Given the description of an element on the screen output the (x, y) to click on. 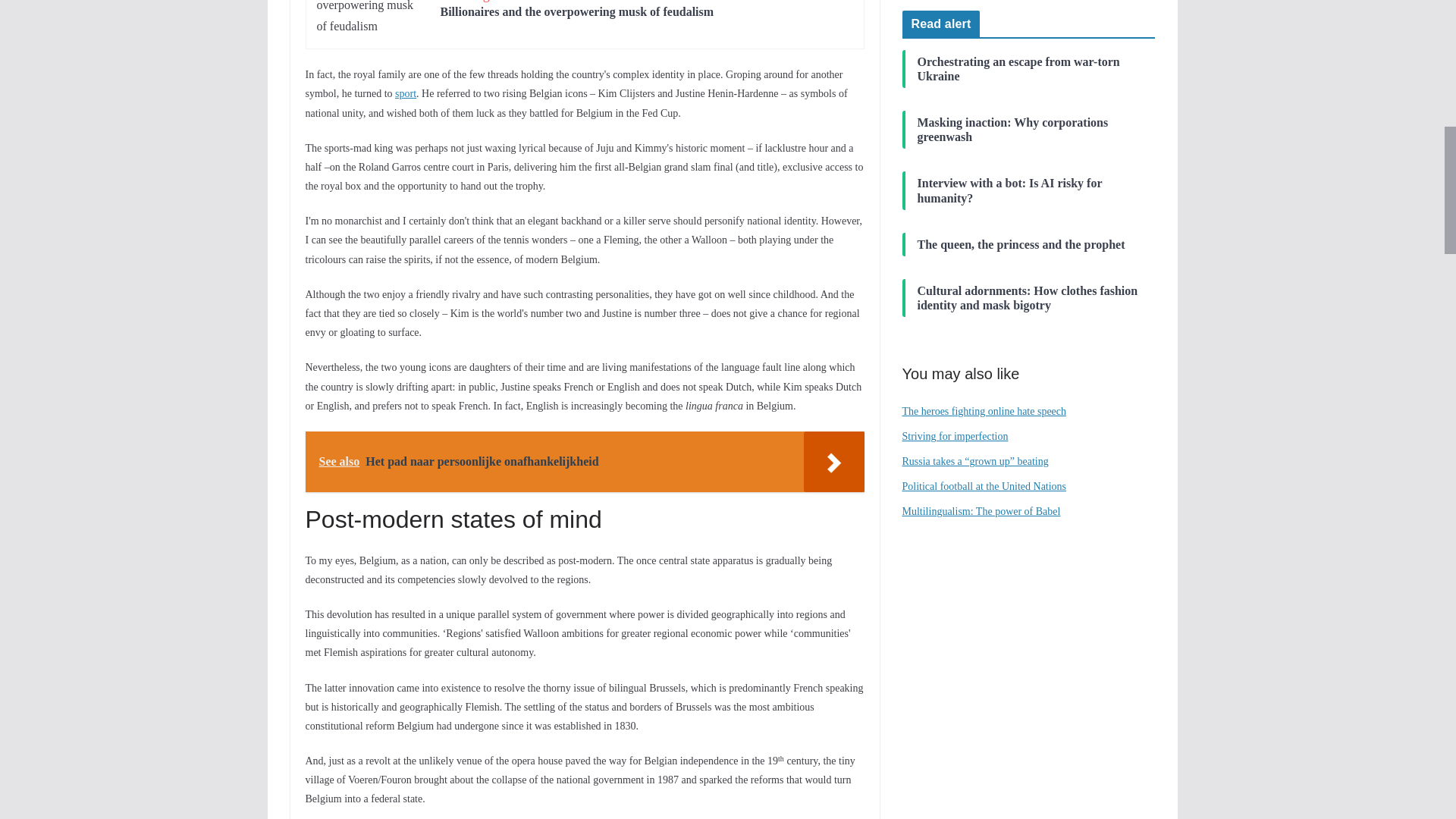
Posts tagged with sport (405, 93)
